Given the description of an element on the screen output the (x, y) to click on. 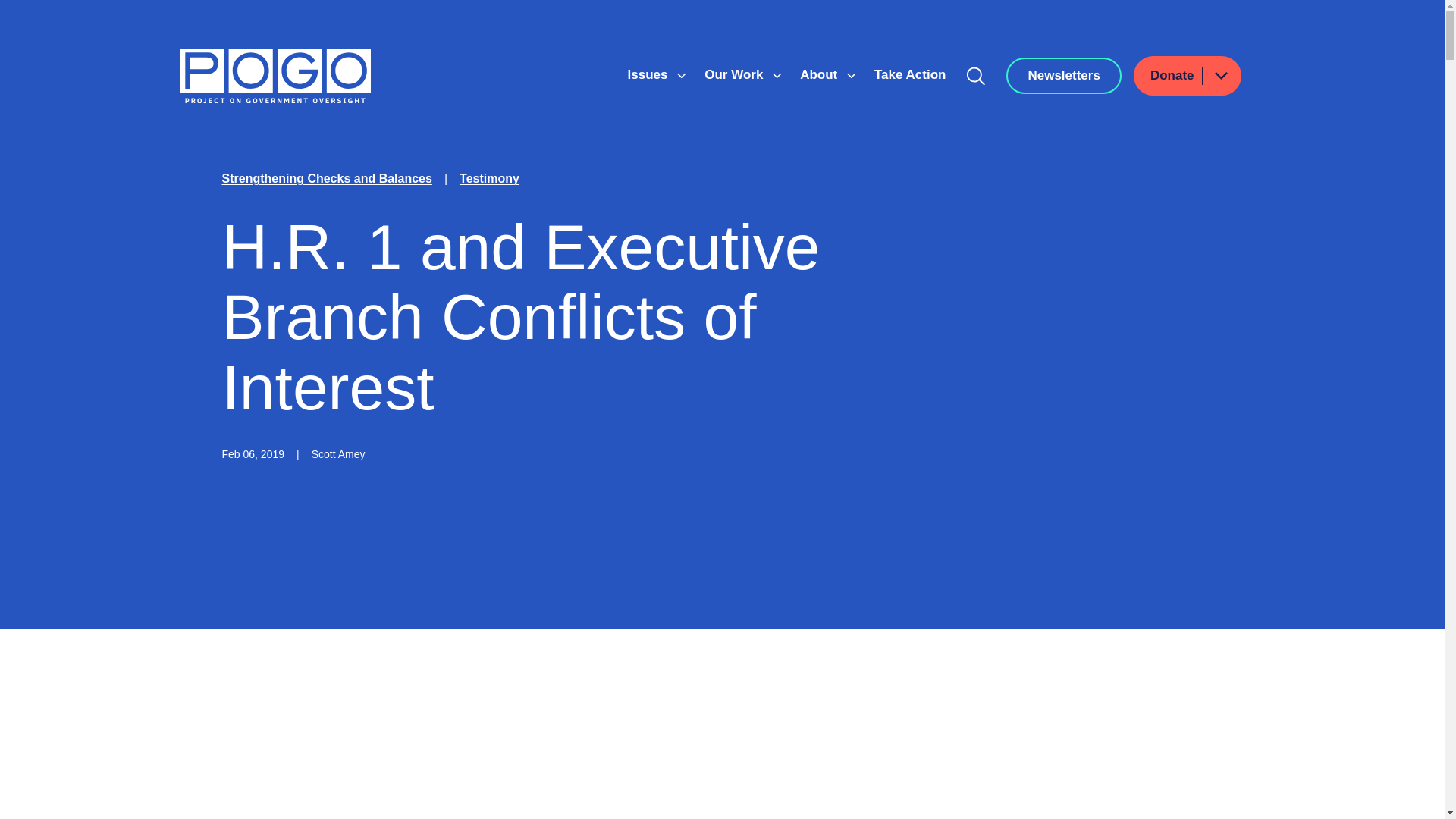
Home (274, 75)
Show submenu for Our Work (777, 75)
Donate (1187, 75)
Show submenu for Donate (1220, 75)
Show submenu for Issues (681, 75)
Our Work (735, 74)
Show submenu for About (851, 75)
Newsletters (1063, 75)
About (820, 74)
Take Action (909, 74)
